Given the description of an element on the screen output the (x, y) to click on. 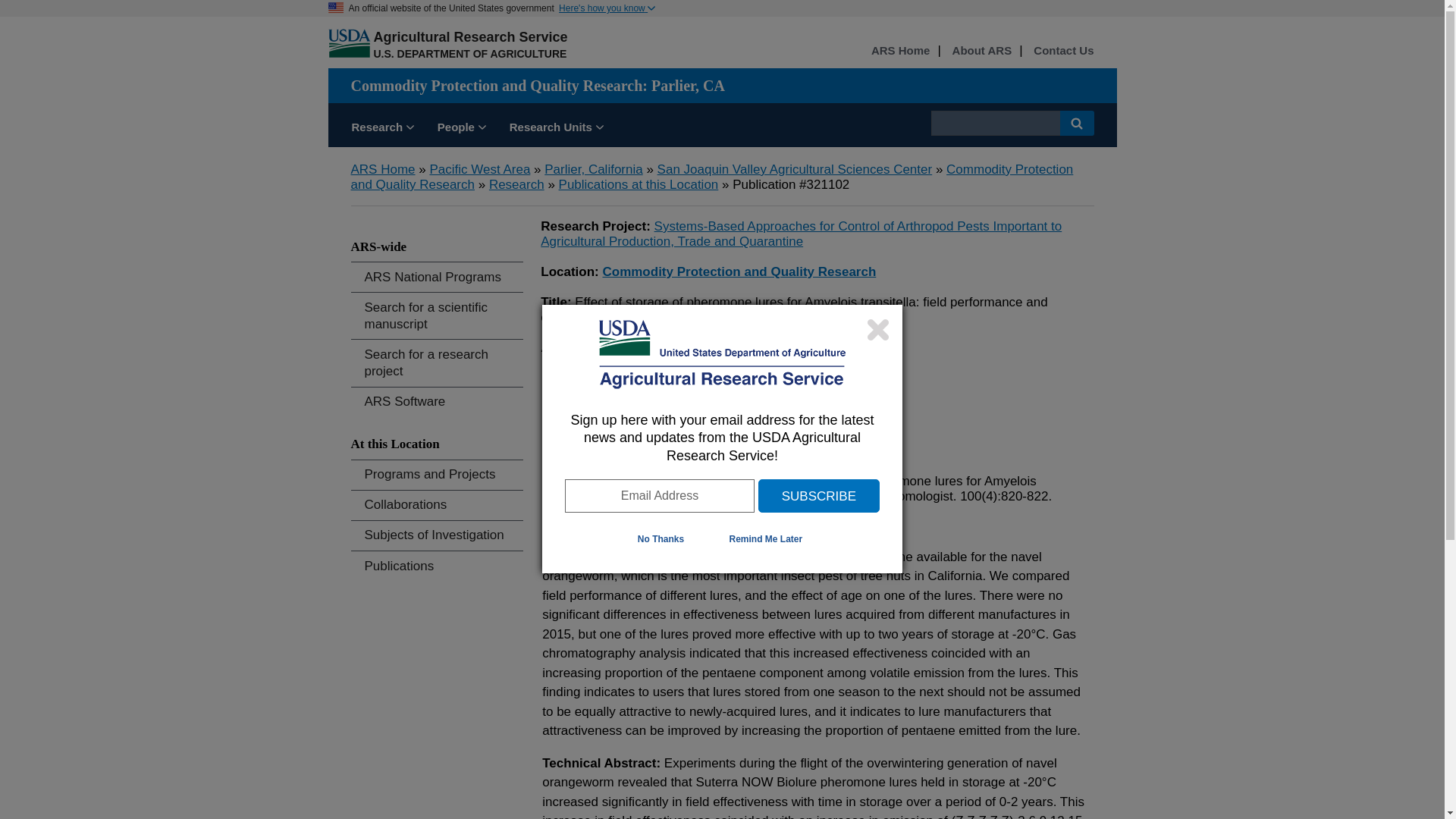
San Joaquin Valley Agricultural Sciences Center (795, 169)
About ARS (981, 50)
Subscribe (818, 495)
Agricultural Research Service (469, 37)
Contact Us (1063, 50)
Research Units (555, 128)
Email Address (659, 495)
Research (382, 128)
Research (516, 184)
ARS Home (382, 169)
